Given the description of an element on the screen output the (x, y) to click on. 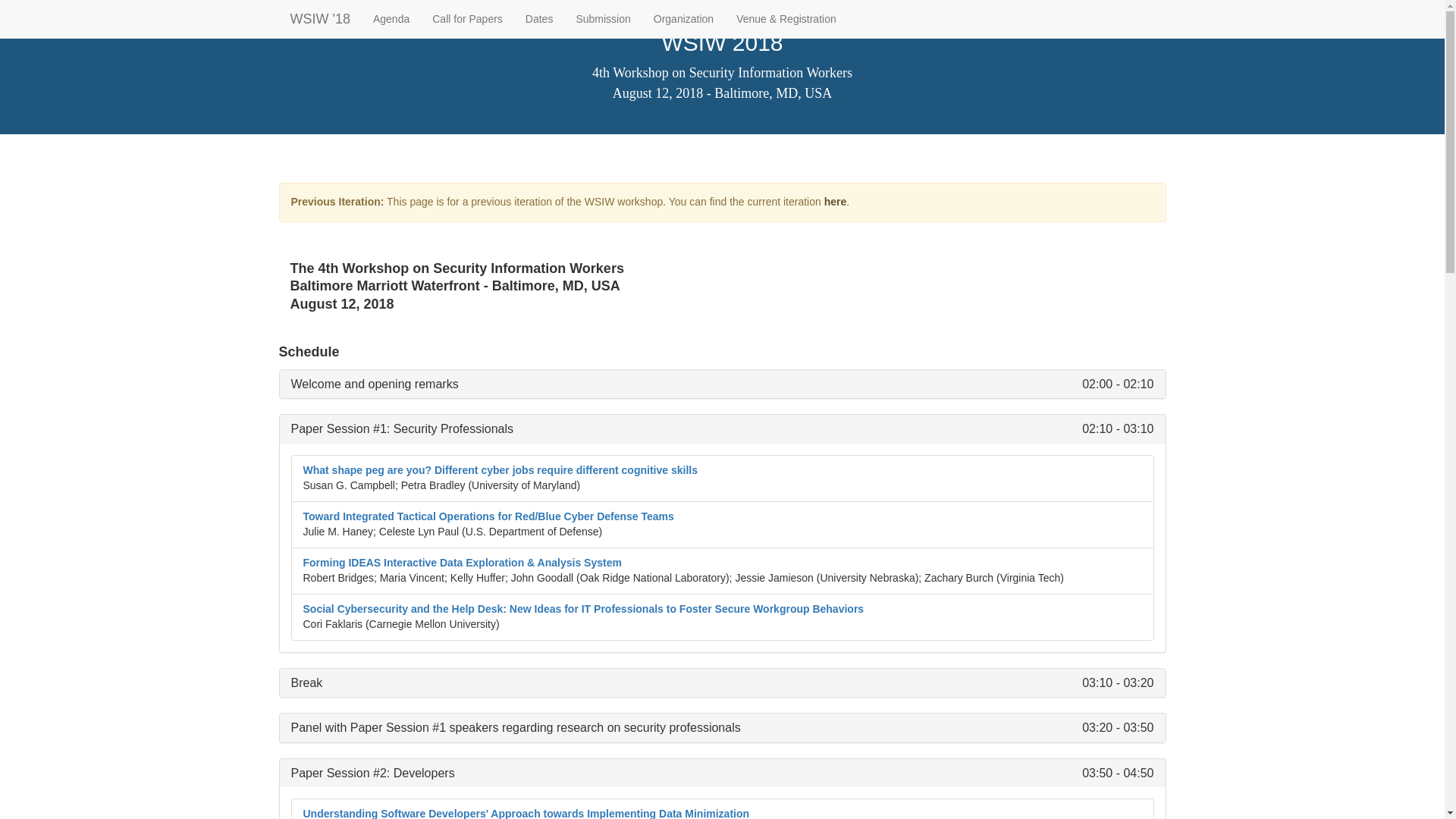
Call for Papers (466, 18)
Organization (683, 18)
Agenda (390, 18)
Dates (538, 18)
WSIW '18 (320, 18)
Submission (603, 18)
here (835, 201)
